Given the description of an element on the screen output the (x, y) to click on. 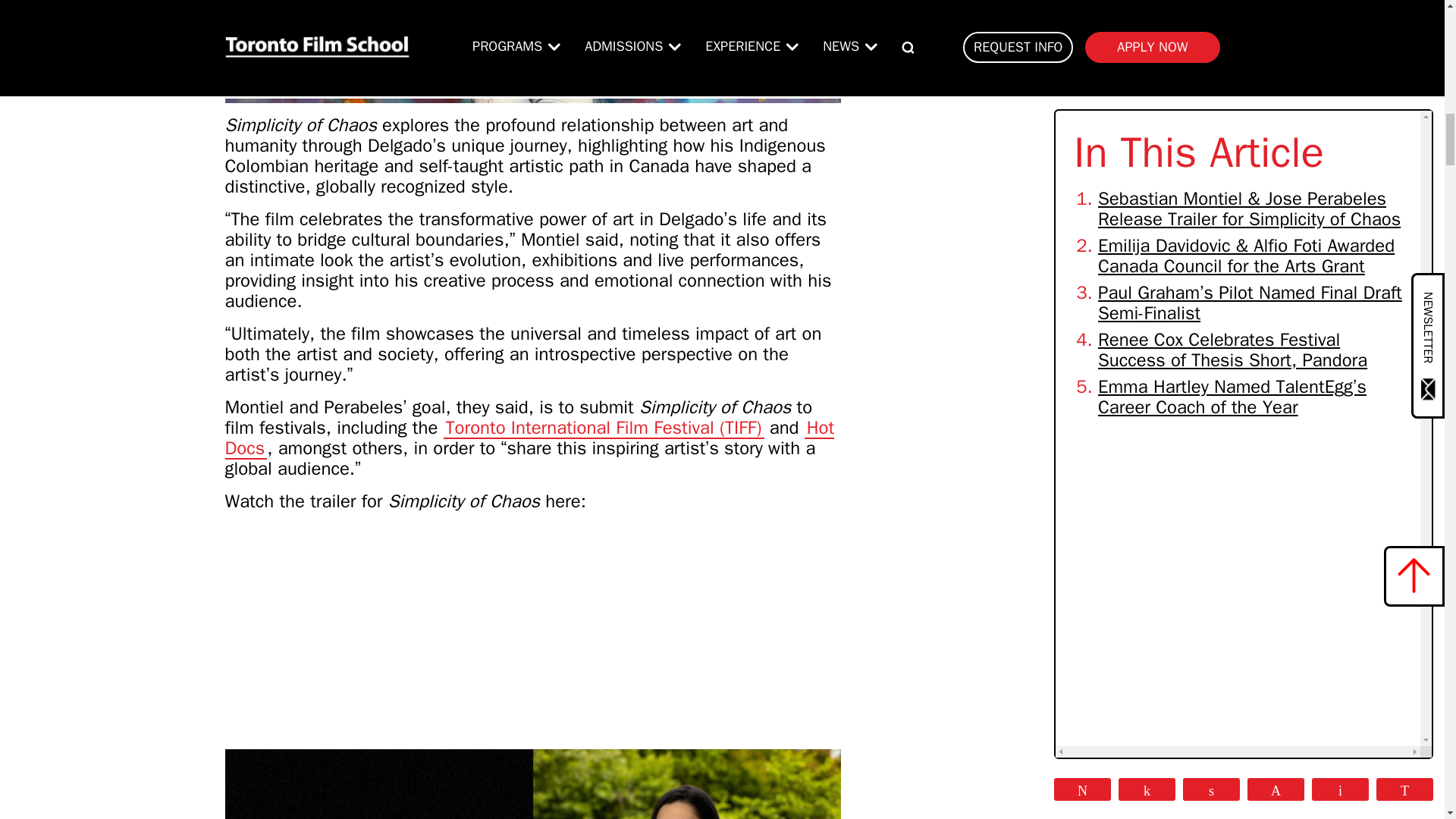
SIMPLICITY OF CHAOS - Trailer (414, 630)
